Given the description of an element on the screen output the (x, y) to click on. 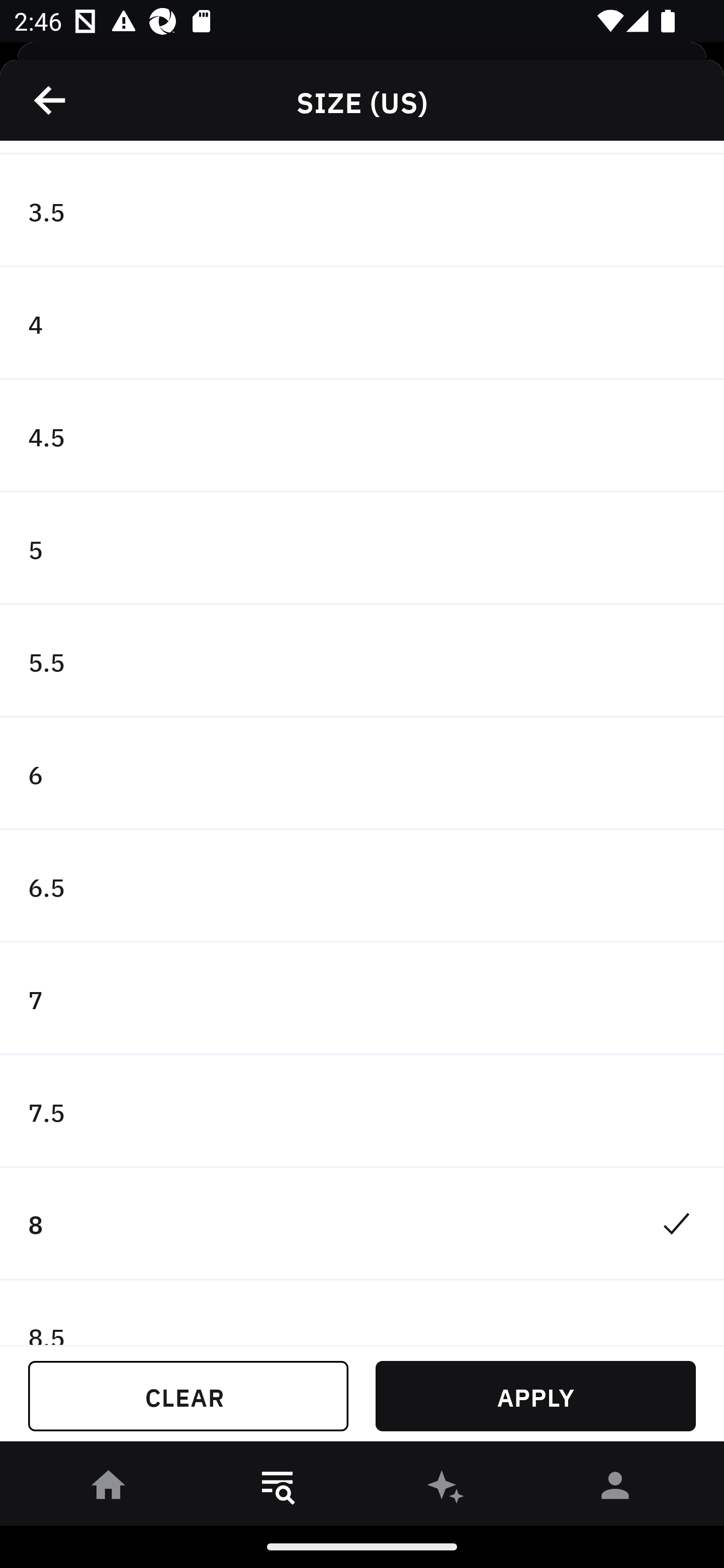
 (50, 100)
3.5 (362, 211)
4 (362, 323)
4.5 (362, 435)
5 (362, 548)
5.5 (362, 661)
6 (362, 773)
6.5 (362, 885)
7 (362, 998)
7.5 (362, 1111)
8  (362, 1224)
CLEAR  (188, 1396)
APPLY (535, 1396)
󰋜 (108, 1488)
󱎸 (277, 1488)
󰫢 (446, 1488)
󰀄 (615, 1488)
